Given the description of an element on the screen output the (x, y) to click on. 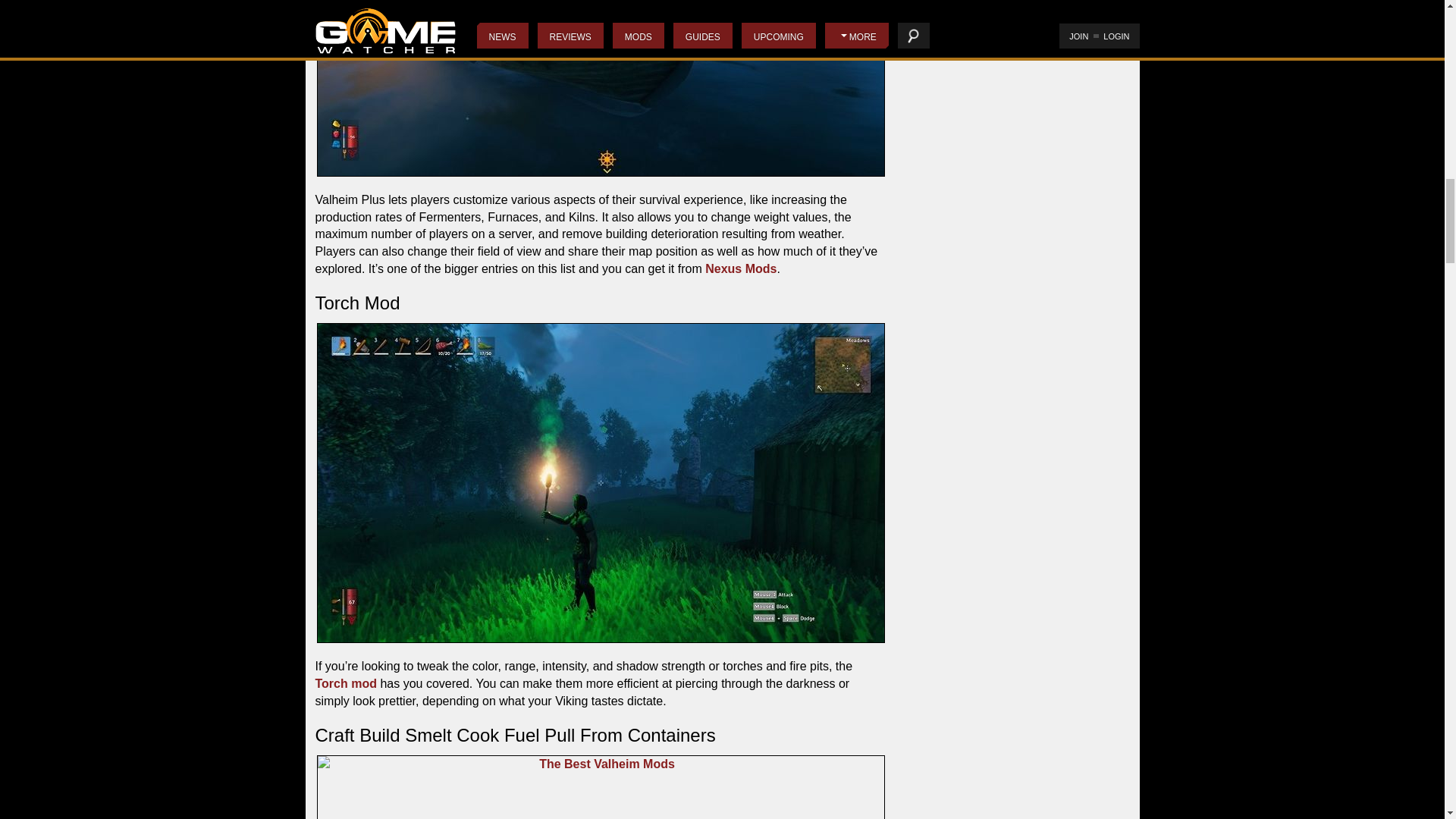
Torch mod (346, 683)
Nexus Mods (740, 268)
